Given the description of an element on the screen output the (x, y) to click on. 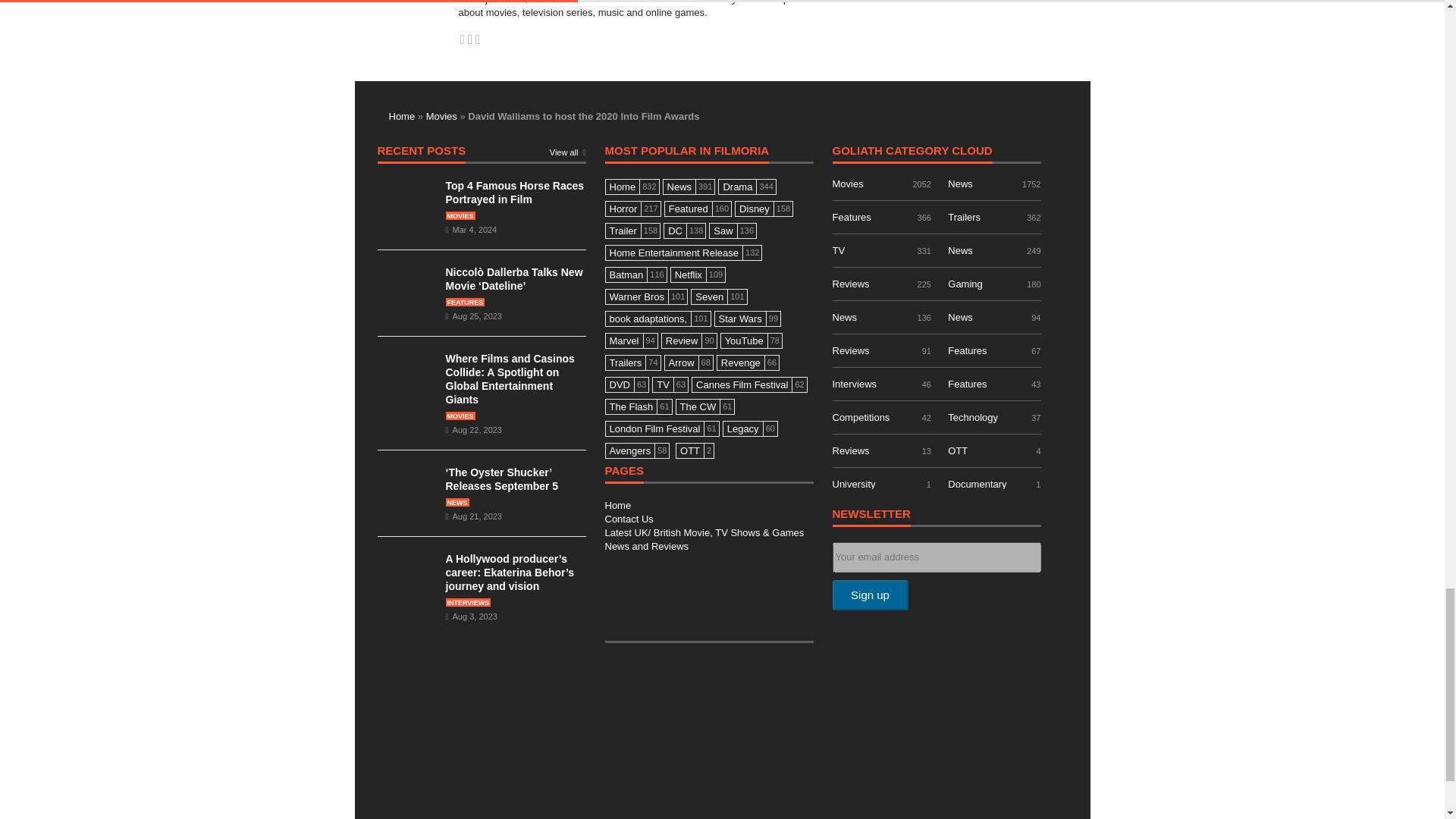
Sign up (870, 594)
